Given the description of an element on the screen output the (x, y) to click on. 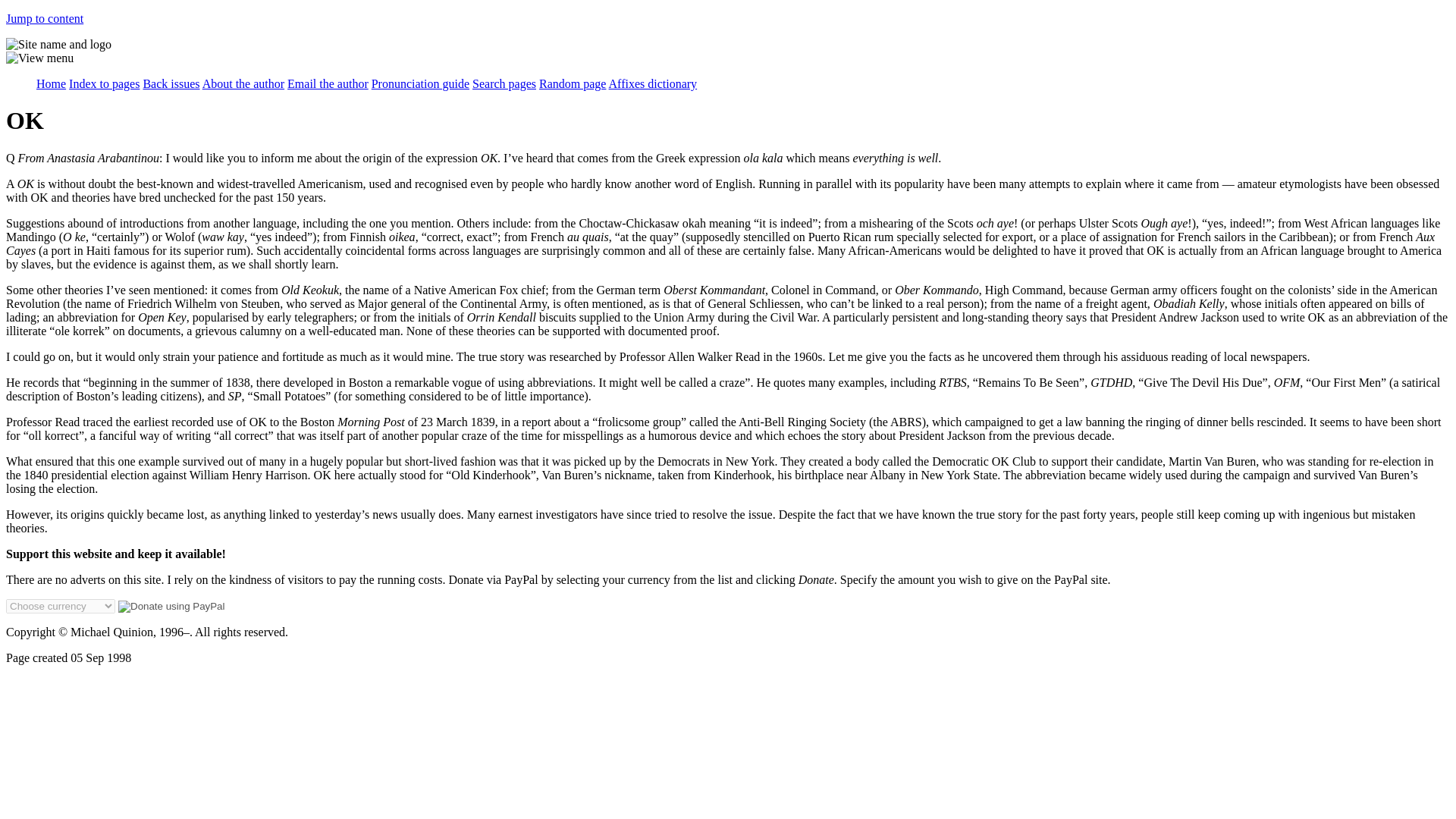
Pronunciation guide (419, 83)
Home (50, 83)
About the author (242, 83)
Back issues (170, 83)
Jump to content (43, 18)
Email the author (327, 83)
Index to pages (103, 83)
Search pages (503, 83)
Random page (571, 83)
Affixes dictionary (652, 83)
